Given the description of an element on the screen output the (x, y) to click on. 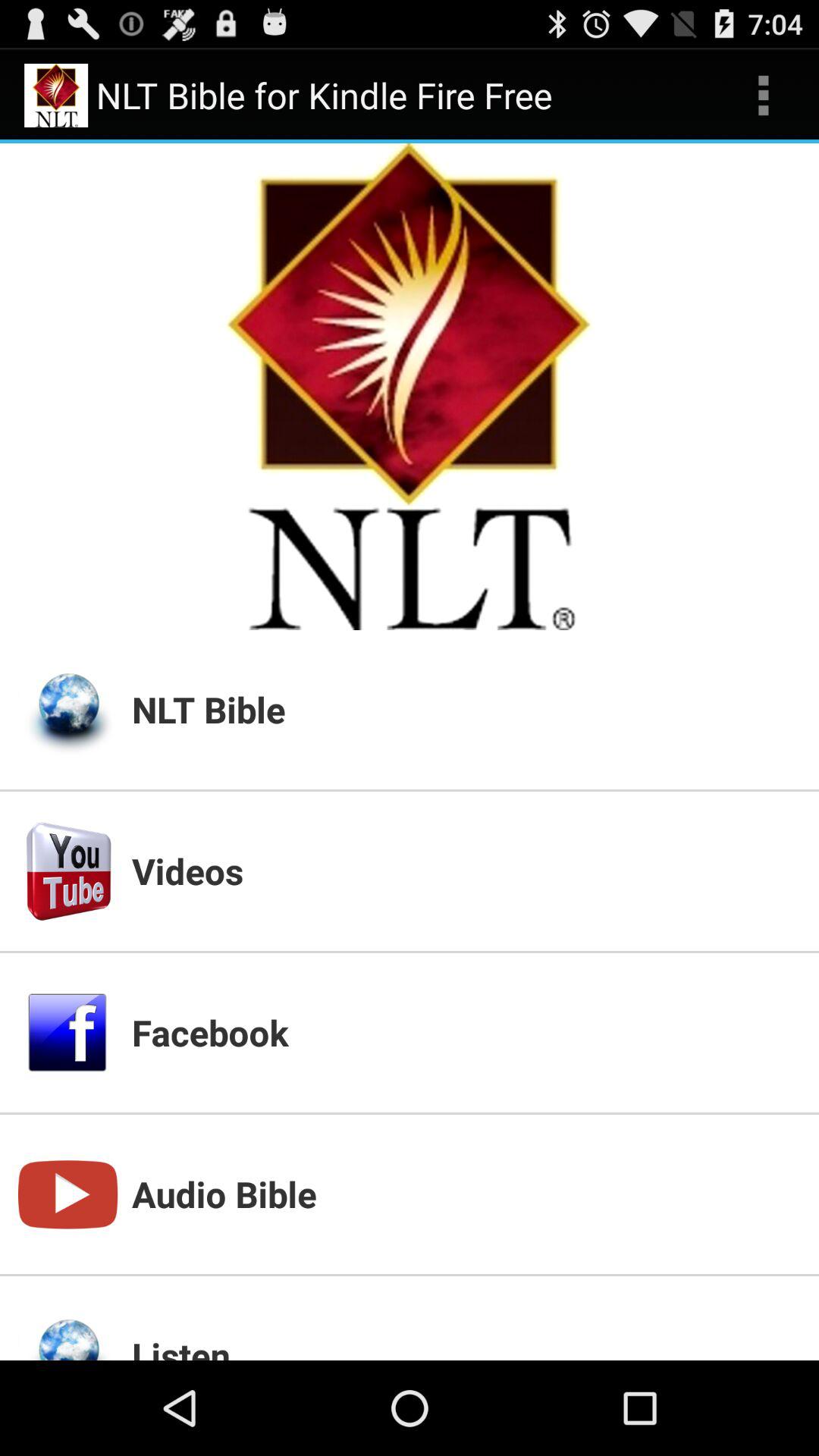
select app above facebook icon (465, 870)
